Given the description of an element on the screen output the (x, y) to click on. 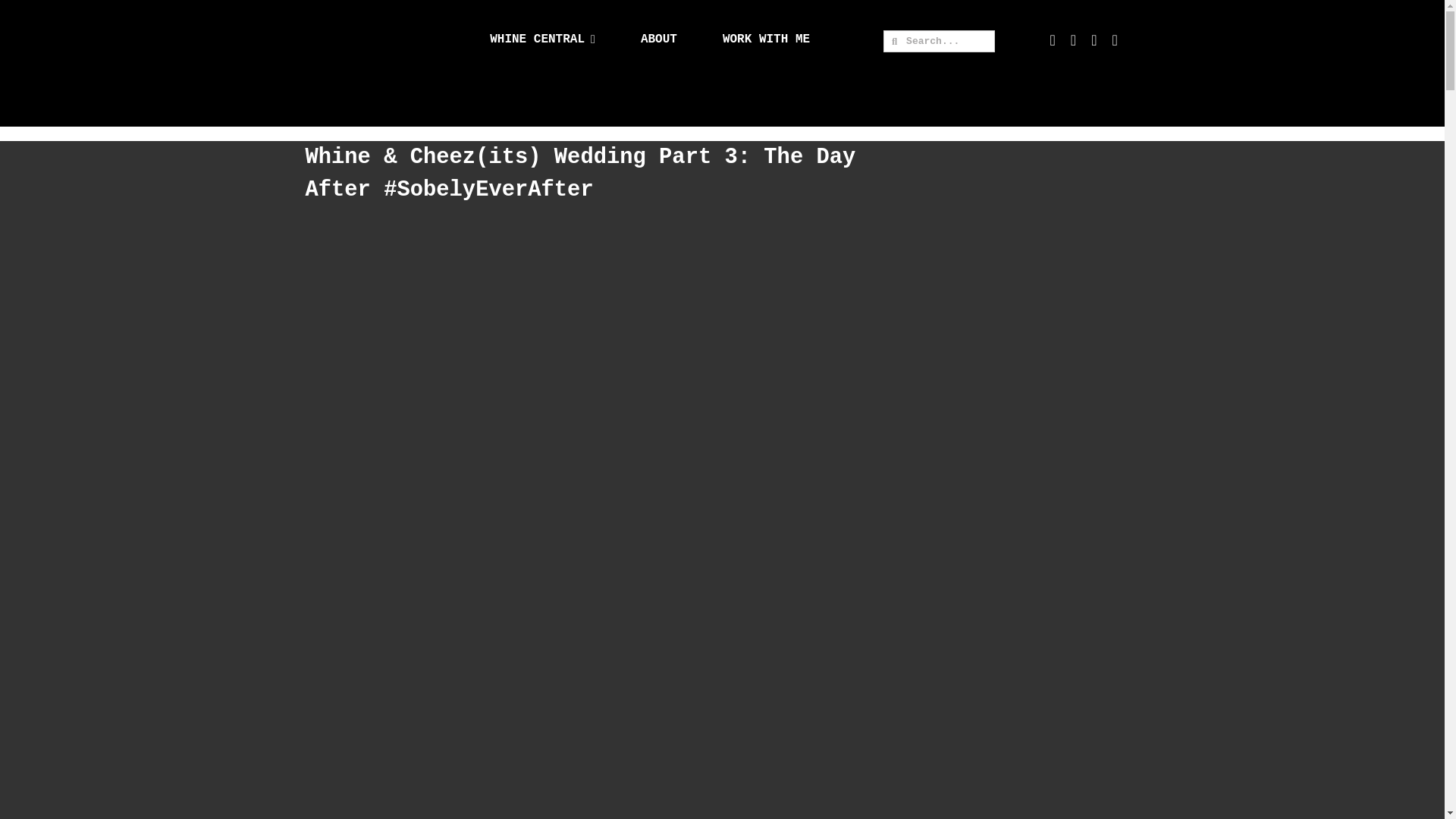
WHINE CENTRAL (542, 39)
WORK WITH ME (766, 39)
ABOUT (658, 39)
